Given the description of an element on the screen output the (x, y) to click on. 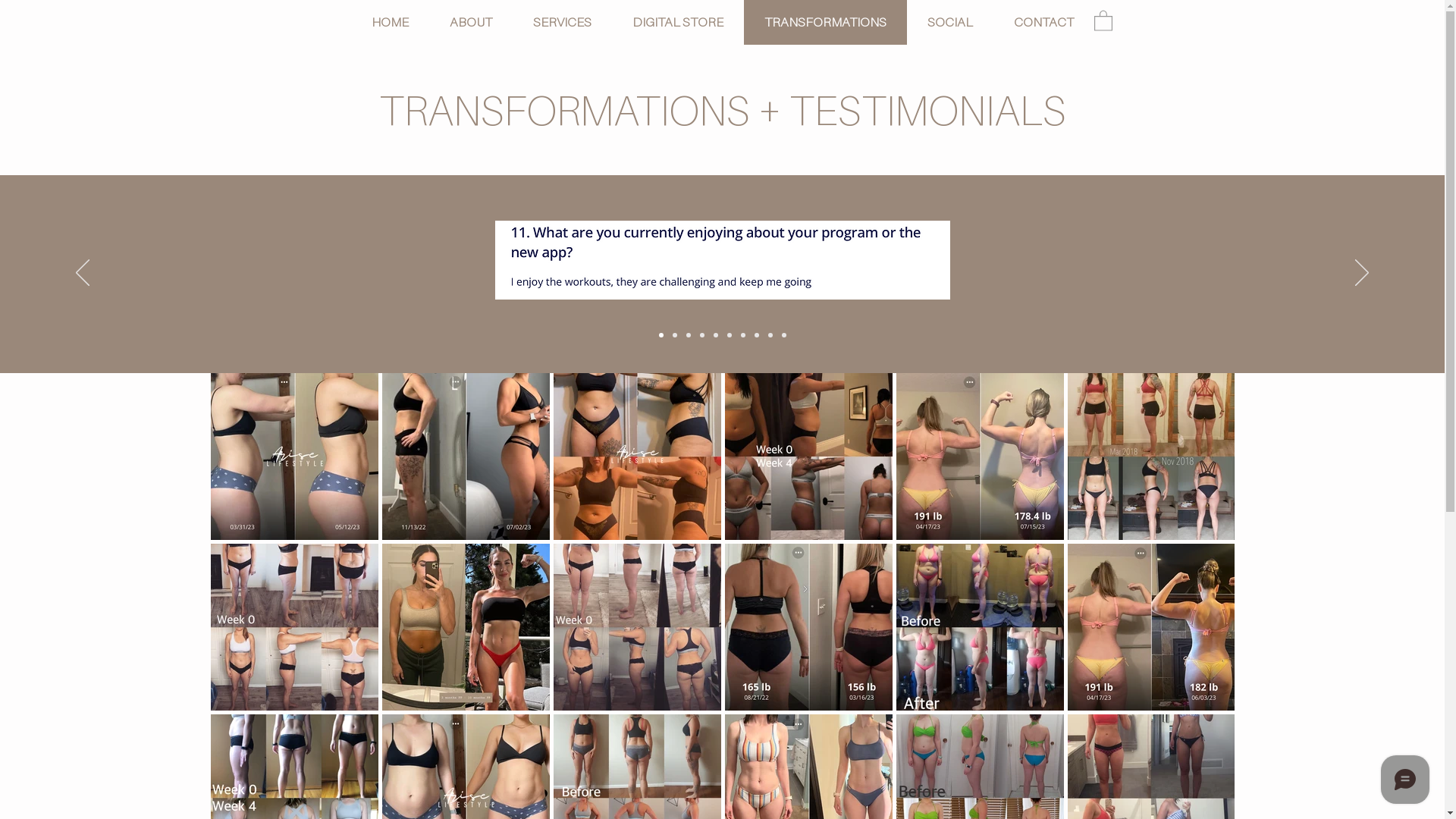
0 Element type: text (1102, 20)
SERVICES Element type: text (561, 22)
DIGITAL STORE Element type: text (677, 22)
HOME Element type: text (389, 22)
TRANSFORMATIONS Element type: text (824, 22)
ABOUT Element type: text (470, 22)
CONTACT Element type: text (1043, 22)
SOCIAL Element type: text (949, 22)
